Given the description of an element on the screen output the (x, y) to click on. 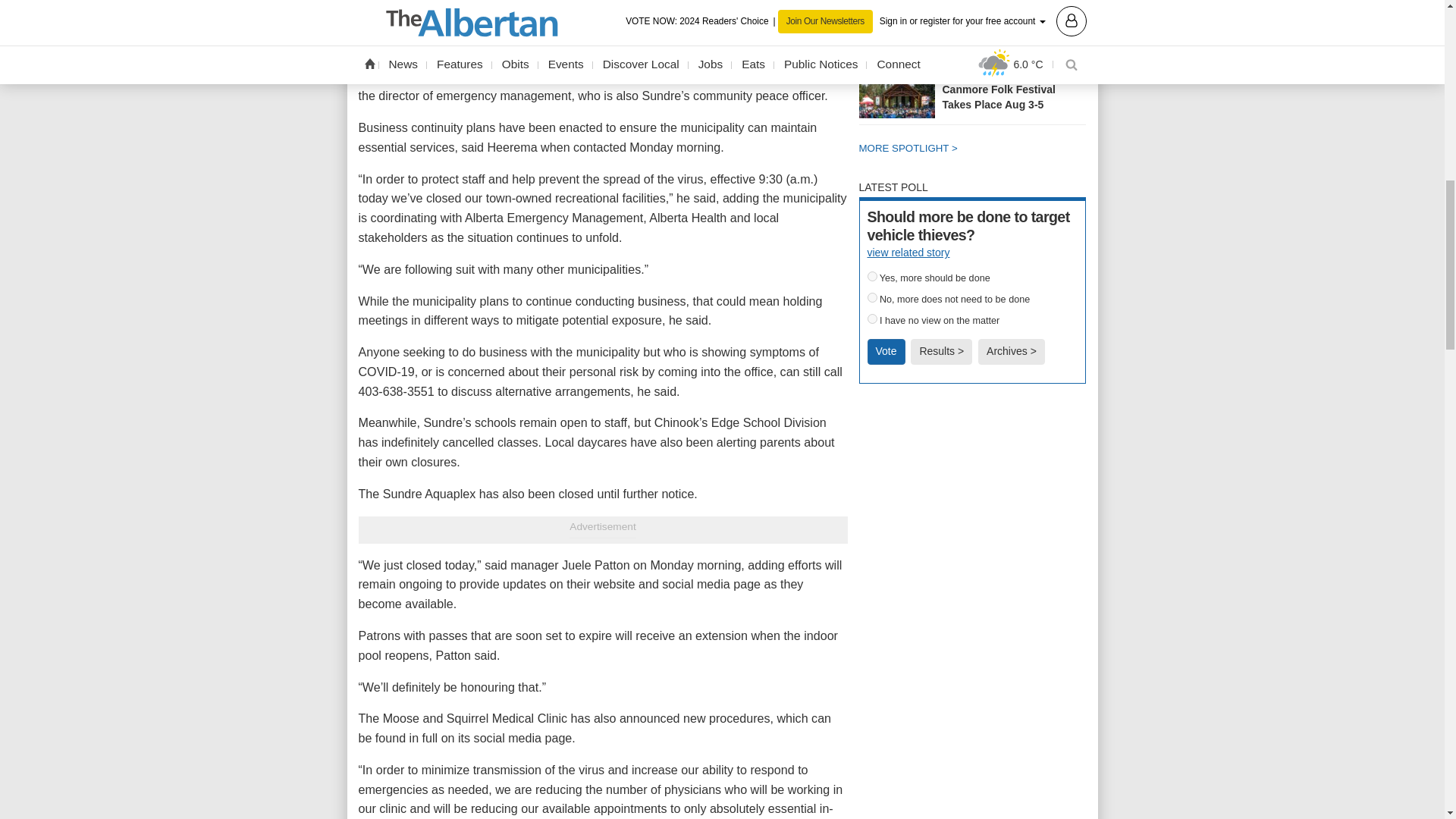
123220 (872, 318)
123219 (872, 297)
Has a gallery (1032, 41)
123218 (872, 276)
